Given the description of an element on the screen output the (x, y) to click on. 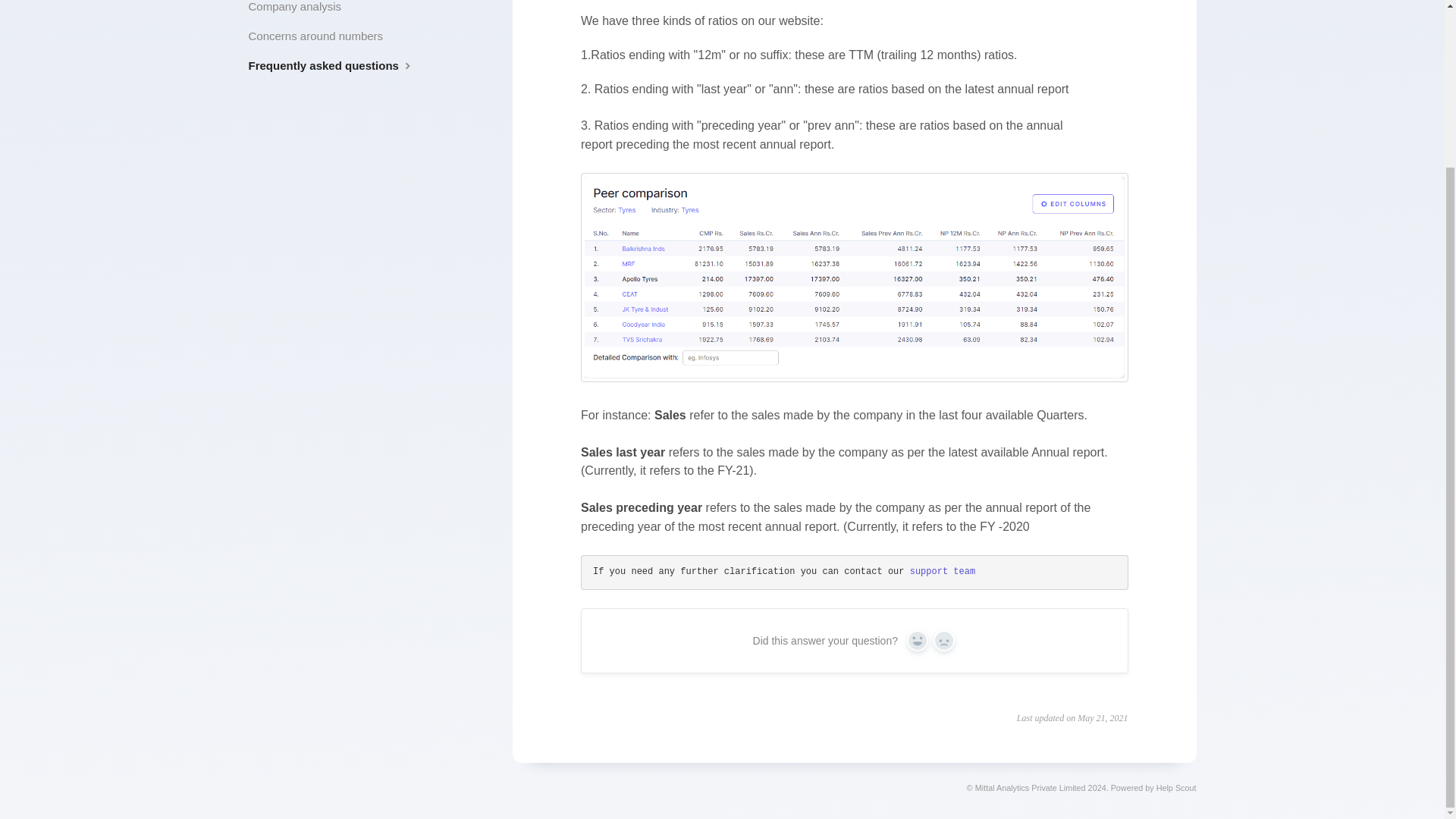
Yes (917, 640)
support team (942, 571)
Mittal Analytics Private Limited (1030, 787)
Company analysis (300, 10)
Frequently asked questions (338, 65)
No (944, 640)
Concerns around numbers (321, 35)
Help Scout (1176, 787)
